Given the description of an element on the screen output the (x, y) to click on. 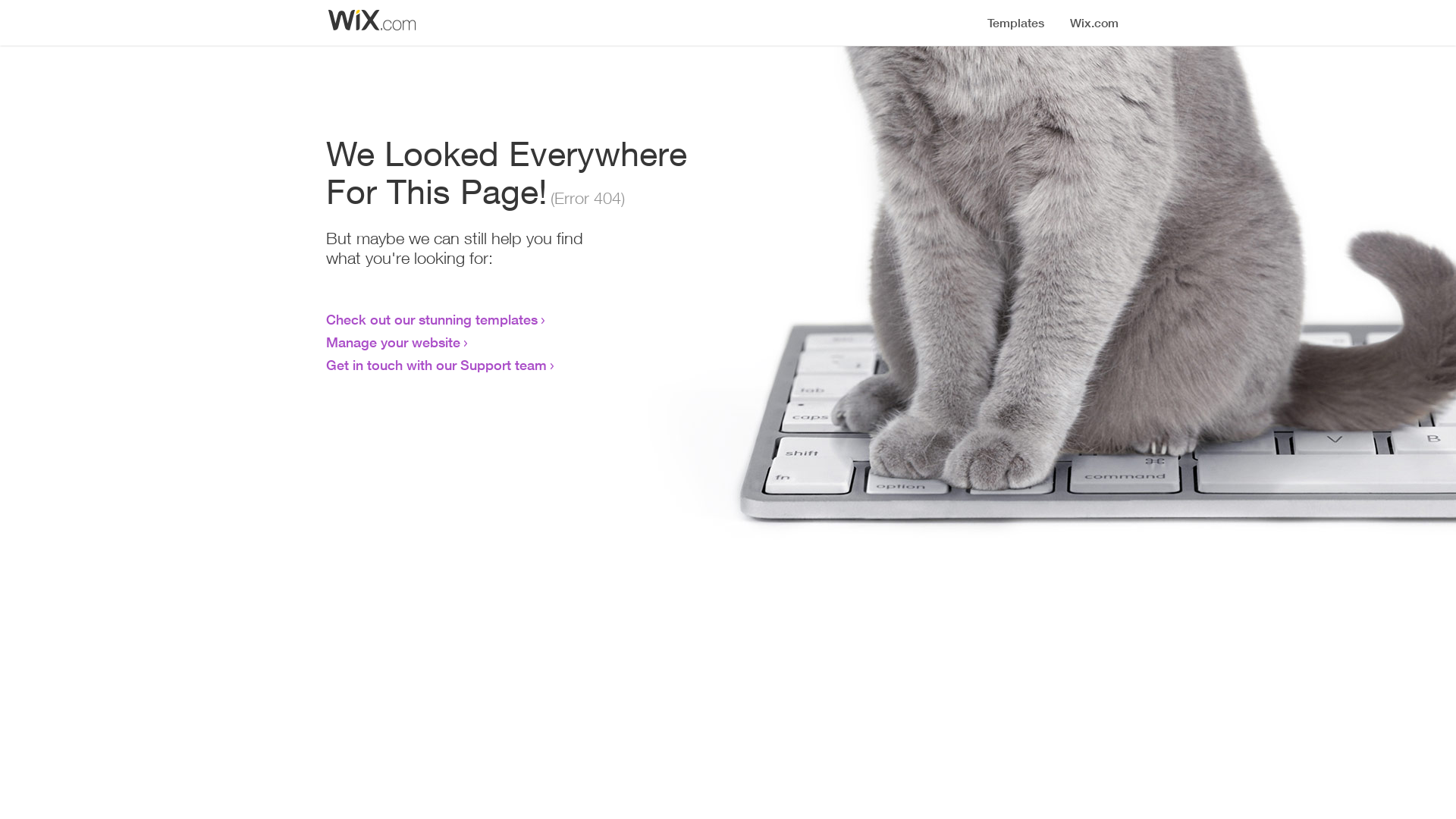
Get in touch with our Support team Element type: text (436, 364)
Manage your website Element type: text (393, 341)
Check out our stunning templates Element type: text (431, 318)
